Given the description of an element on the screen output the (x, y) to click on. 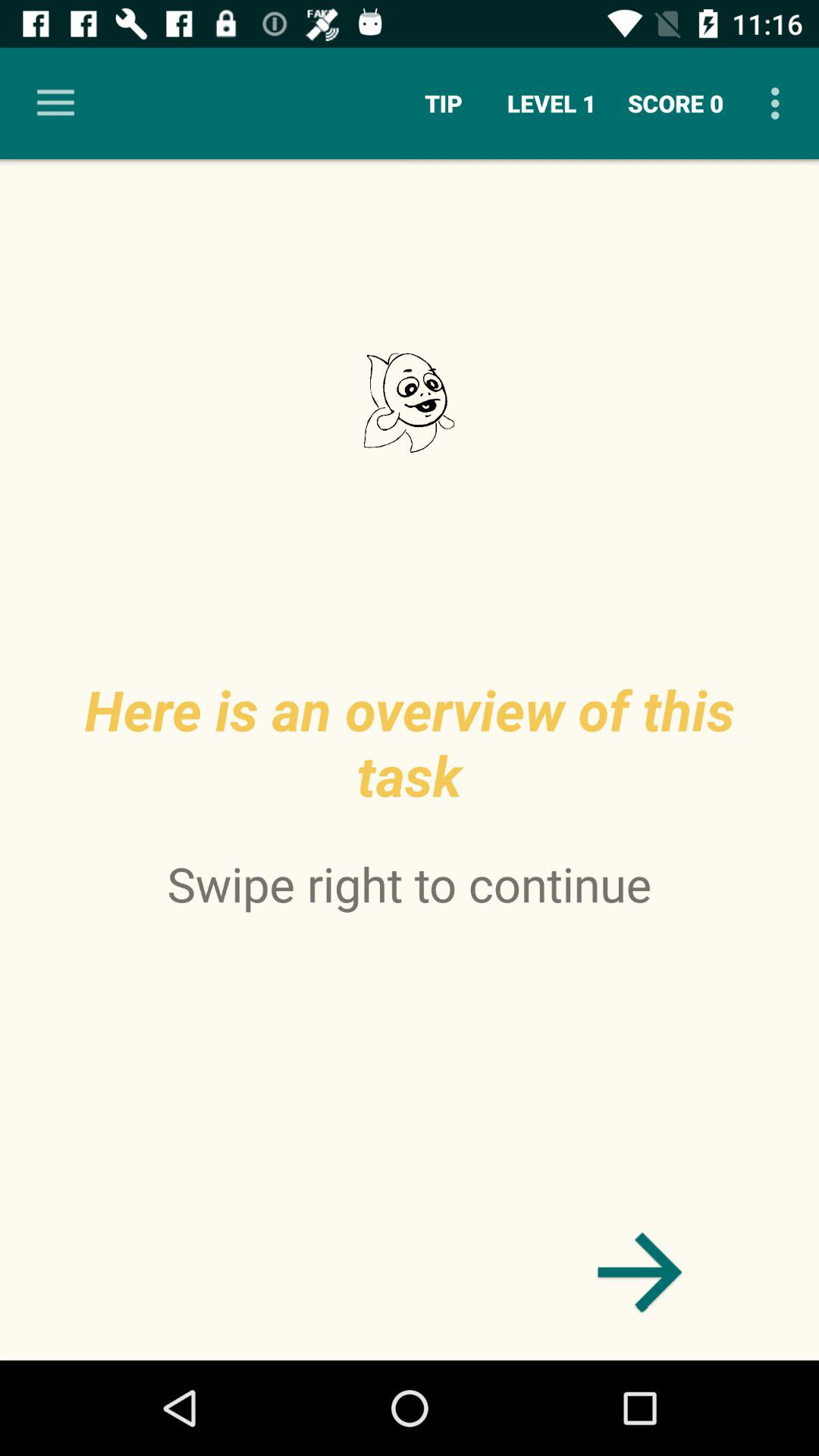
open the tip icon (443, 103)
